Given the description of an element on the screen output the (x, y) to click on. 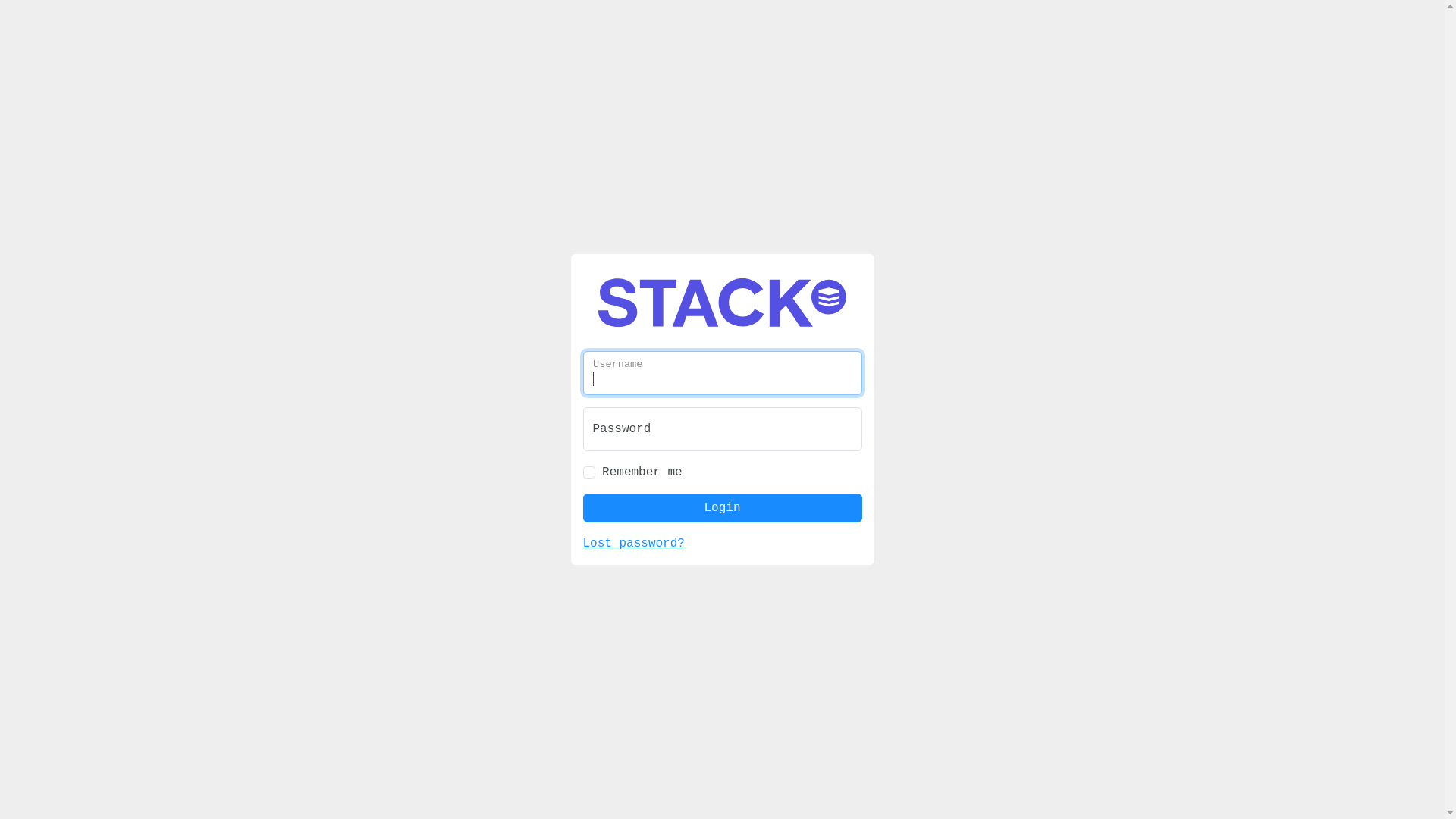
Lost password? Element type: text (633, 517)
Login Element type: text (721, 481)
